Given the description of an element on the screen output the (x, y) to click on. 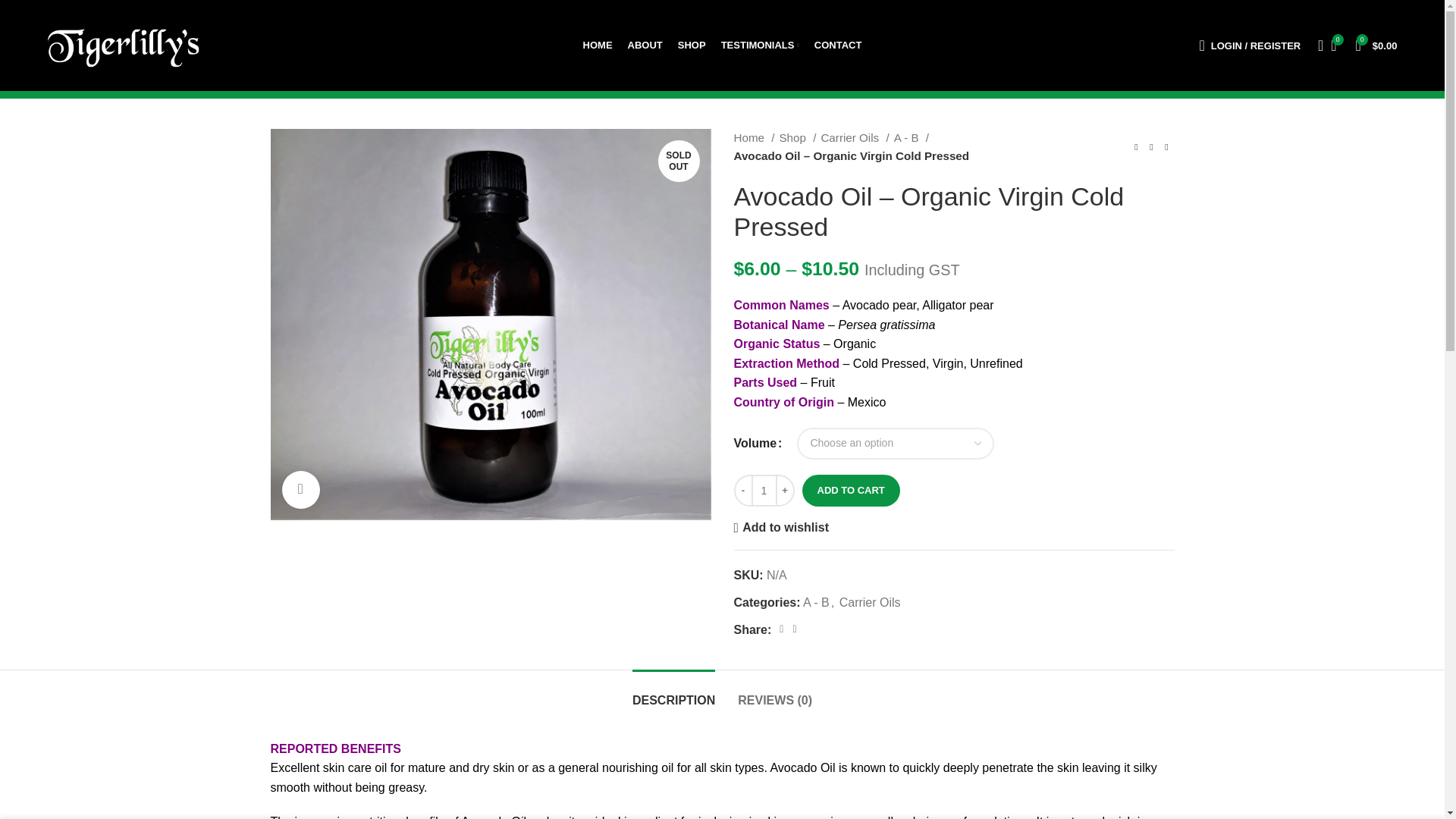
TESTIMONIALS (759, 45)
Carrier Oils (854, 137)
My account (1249, 45)
SHOP (692, 45)
ABOUT (644, 45)
Home (753, 137)
HOME (597, 45)
Shop (796, 137)
A - B (910, 137)
Log in (1174, 294)
Shopping cart (1376, 45)
CONTACT (837, 45)
